Given the description of an element on the screen output the (x, y) to click on. 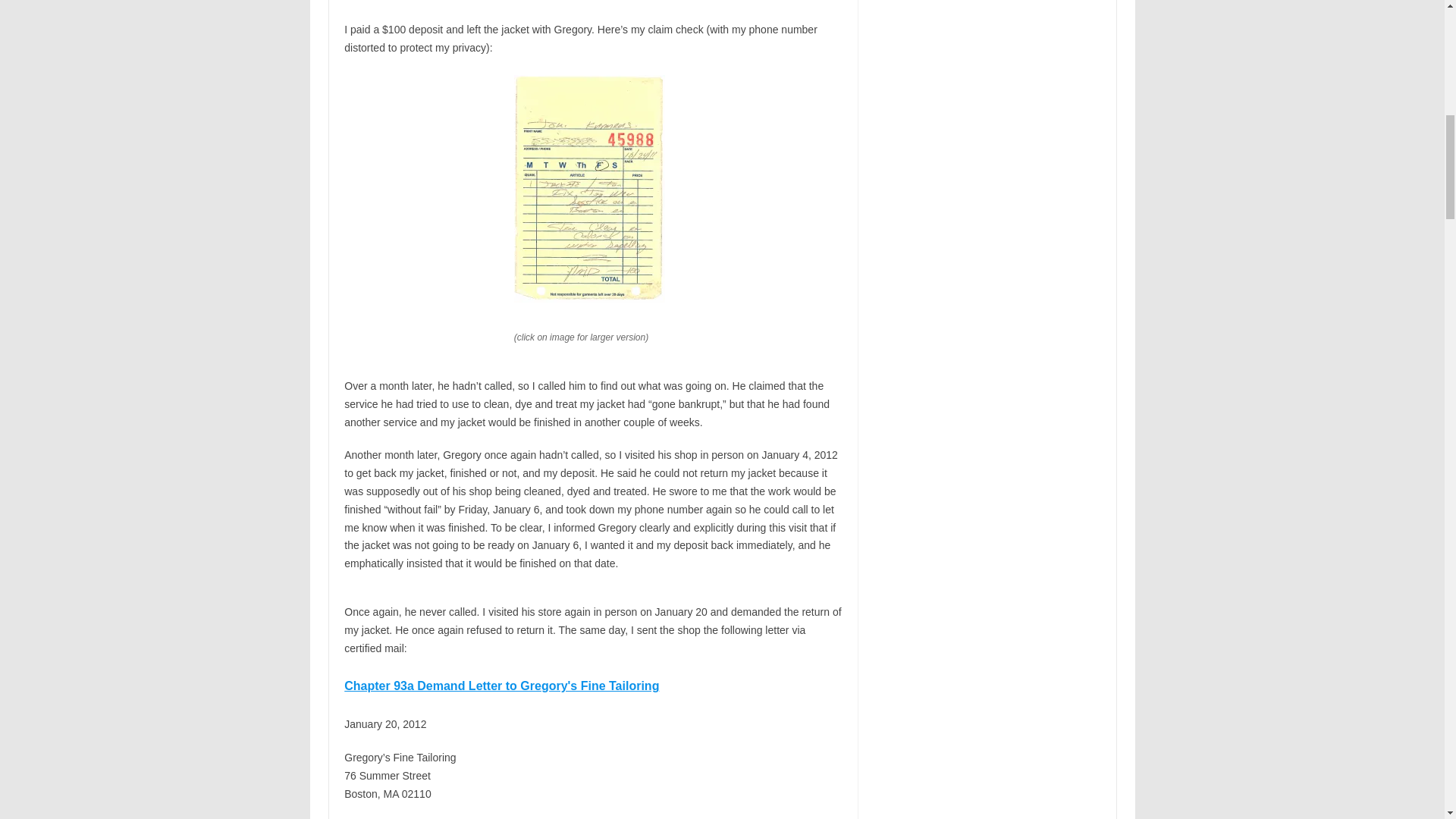
Chapter 93a Demand Letter to Gregory's Fine Tailoring (501, 685)
